Given the description of an element on the screen output the (x, y) to click on. 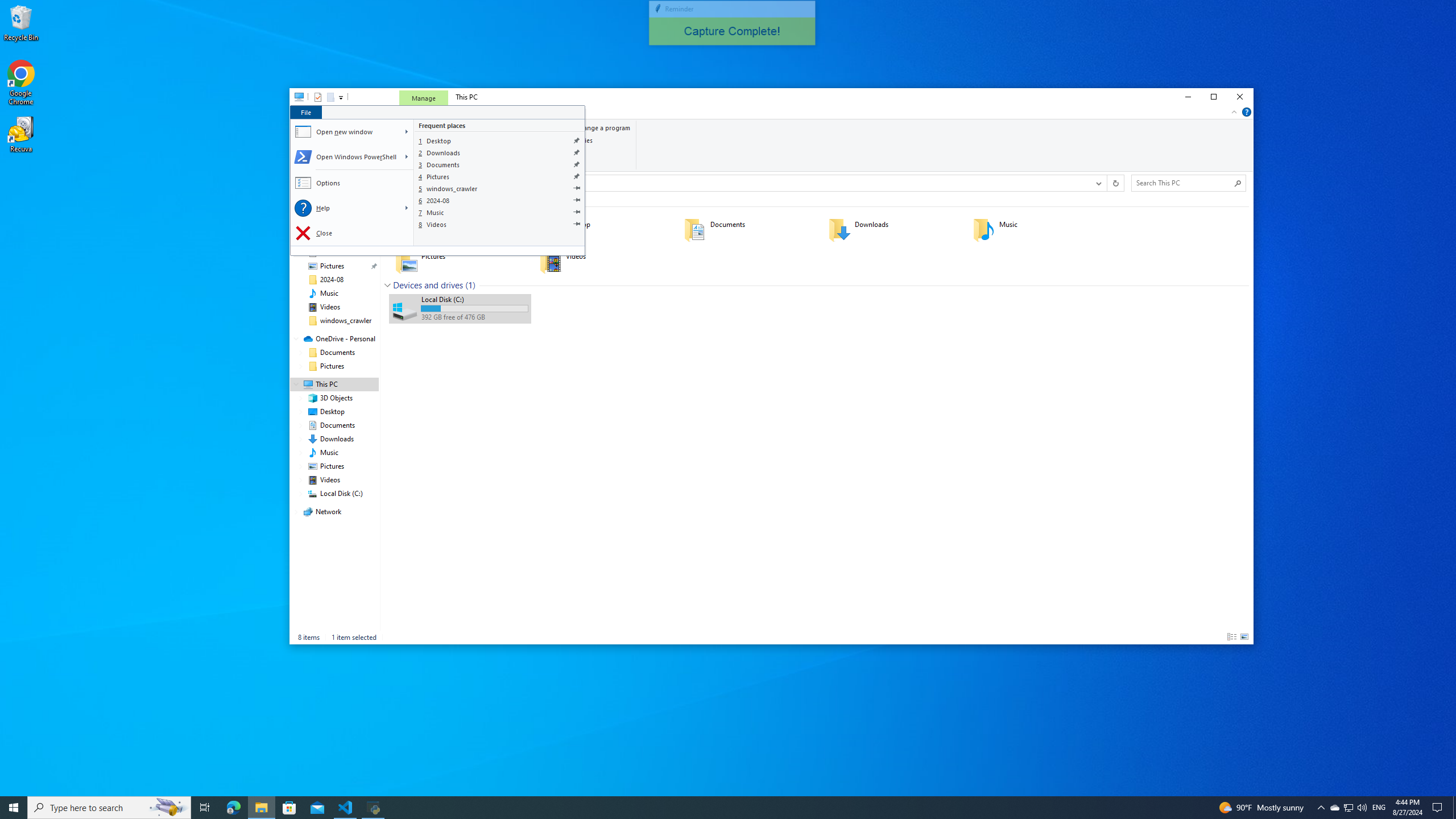
W (406, 131)
L (406, 207)
Class: NetUIHWND (437, 179)
